Given the description of an element on the screen output the (x, y) to click on. 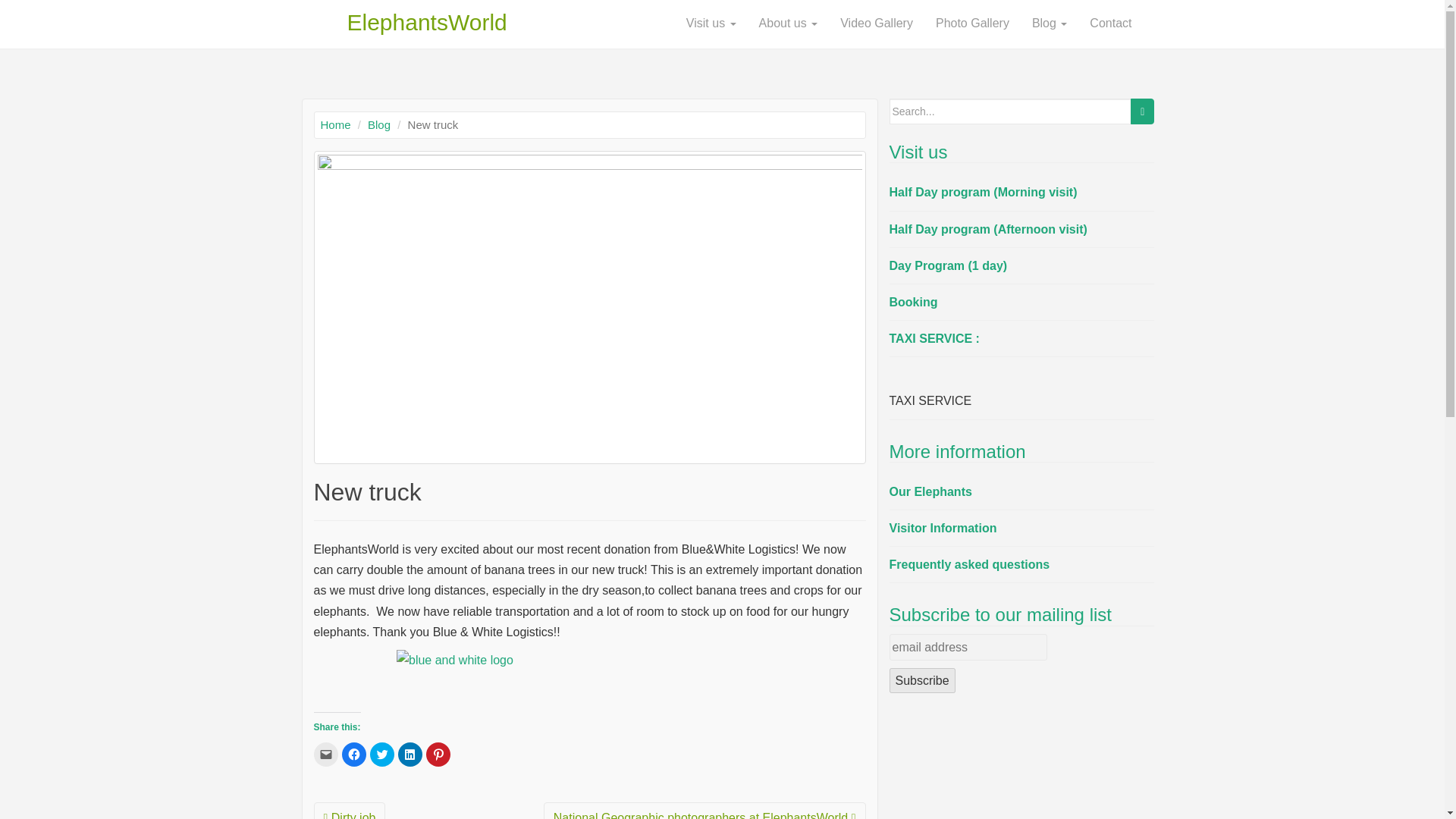
About us (788, 24)
Blog (379, 124)
Visit us (711, 24)
ElephantsWorld (400, 23)
Subscribe (921, 680)
About us (788, 24)
Video Gallery (876, 24)
Visit us (711, 24)
ElephantsWorld (400, 23)
Contact (1110, 24)
